Given the description of an element on the screen output the (x, y) to click on. 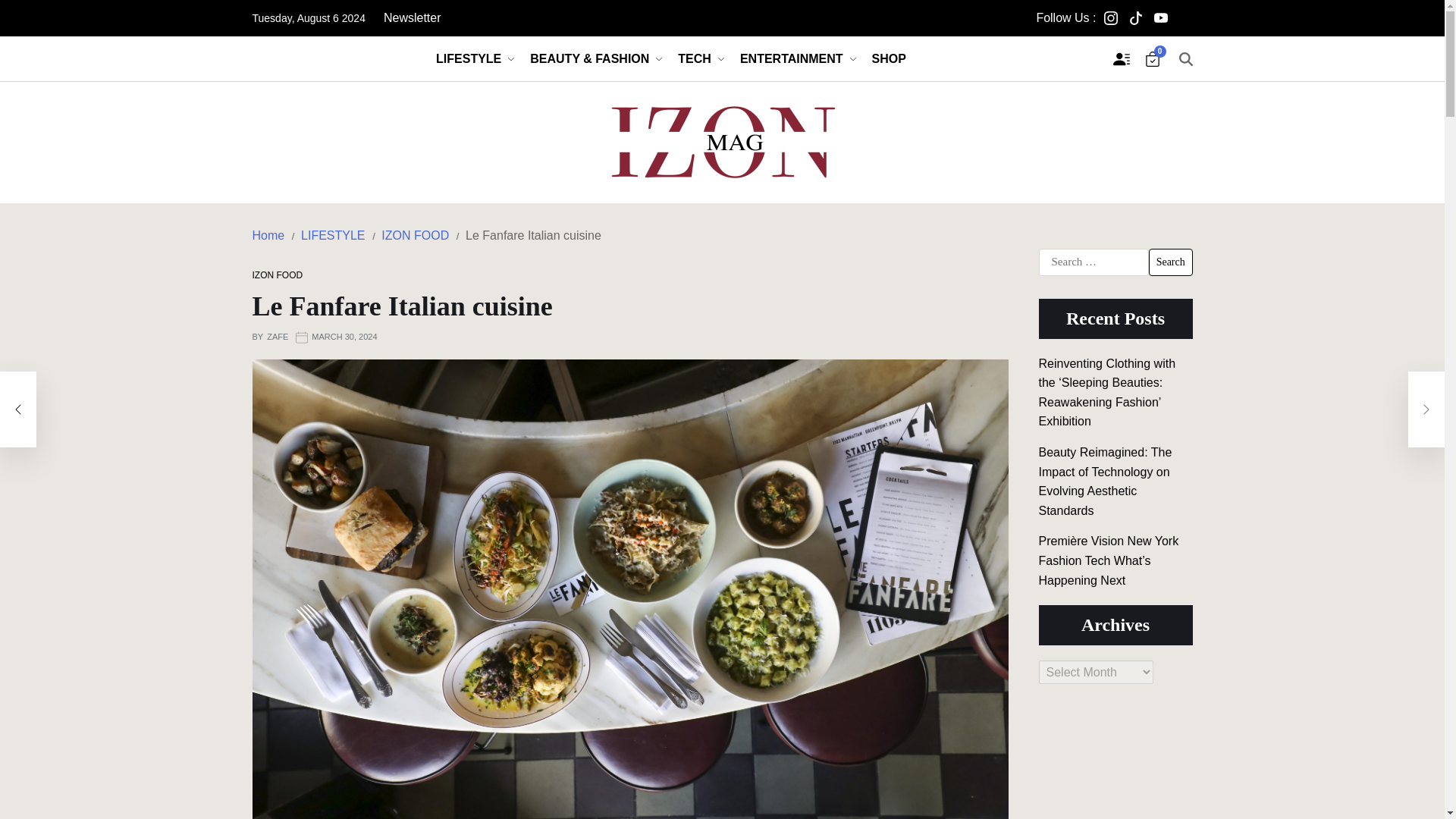
ENTERTAINMENT (798, 58)
TECH (701, 58)
ZAFE (277, 336)
Newsletter (412, 17)
Home (267, 235)
IZON FOOD (276, 275)
Search (1170, 262)
IZON FOOD (414, 235)
LIFESTYLE (475, 58)
LIFESTYLE (333, 235)
Search (1170, 262)
0 (1152, 58)
